Given the description of an element on the screen output the (x, y) to click on. 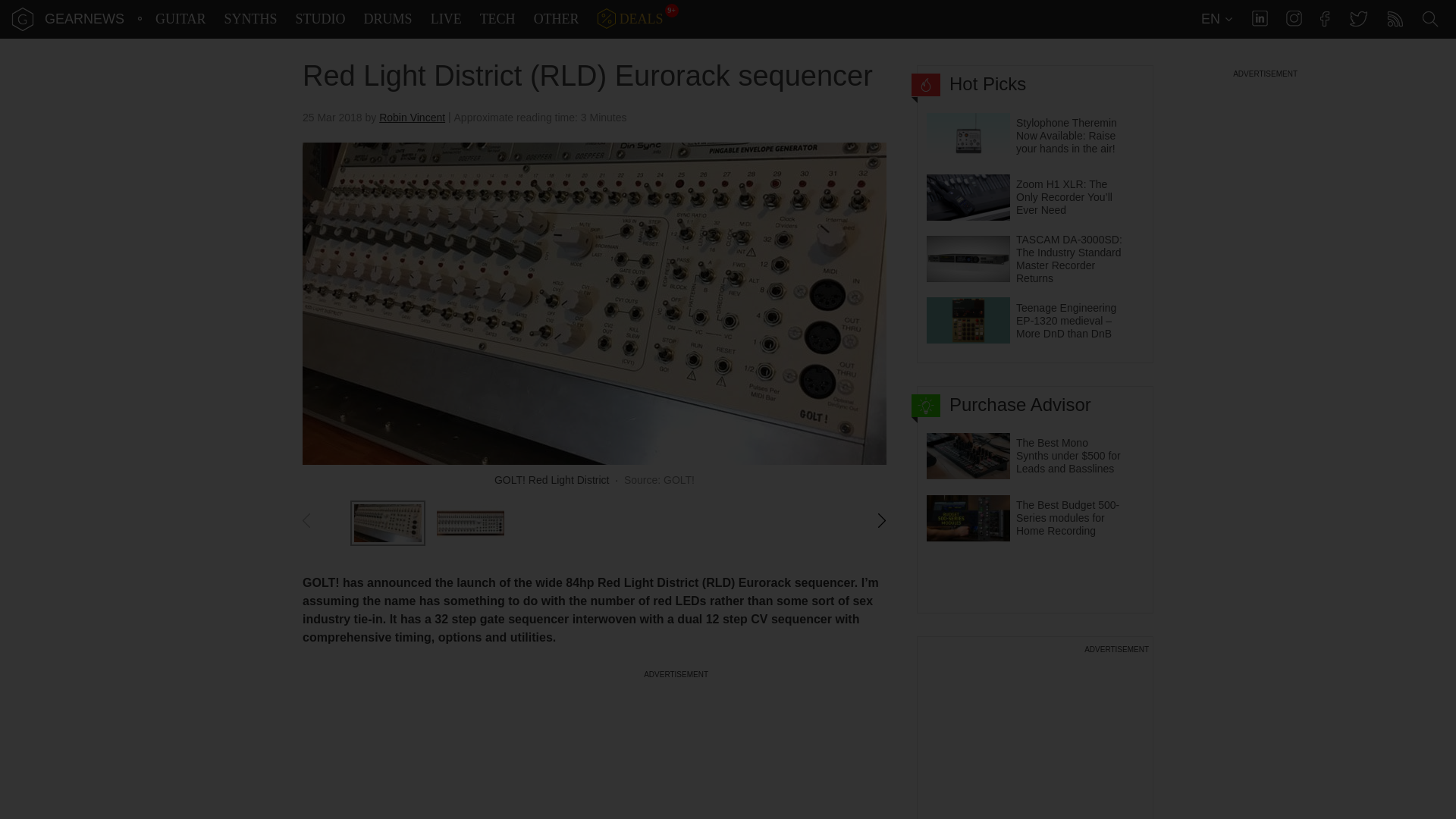
SYNTHS (250, 19)
OTHER (556, 19)
LIVE (445, 19)
STUDIO (320, 19)
GEARNEWS (84, 18)
Instagram (1293, 18)
DRUMS (387, 19)
LinkedIn (1260, 18)
DEALS (630, 19)
GUITAR (181, 19)
